Given the description of an element on the screen output the (x, y) to click on. 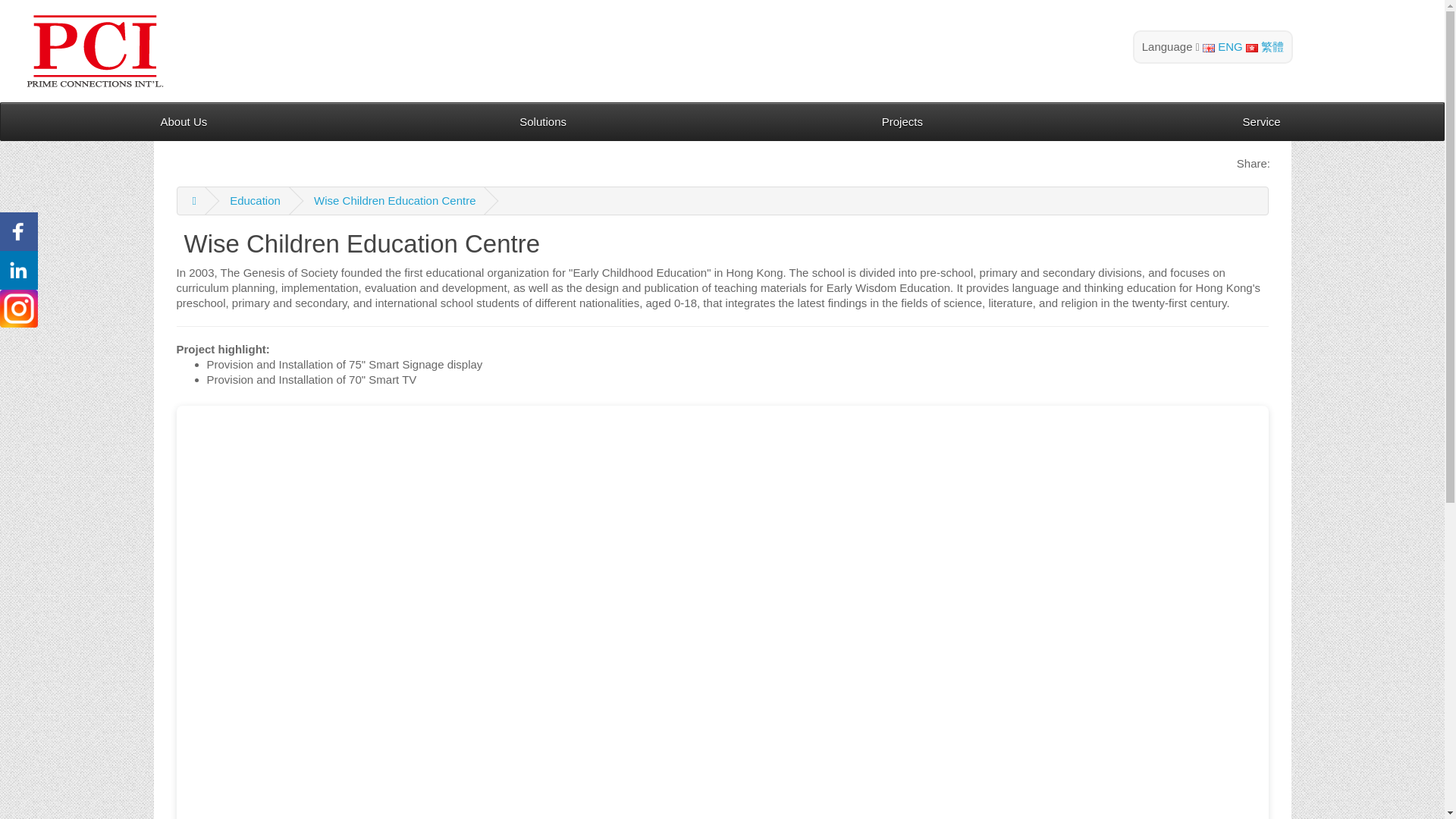
ENG (1222, 46)
PCI - Prime Connections Int'l Holding Co., Limited (94, 50)
ENG (1208, 48)
Education (255, 200)
Wise Children Education Centre (395, 200)
Solutions (543, 121)
Projects (902, 121)
About Us (183, 121)
Service (1261, 121)
